Given the description of an element on the screen output the (x, y) to click on. 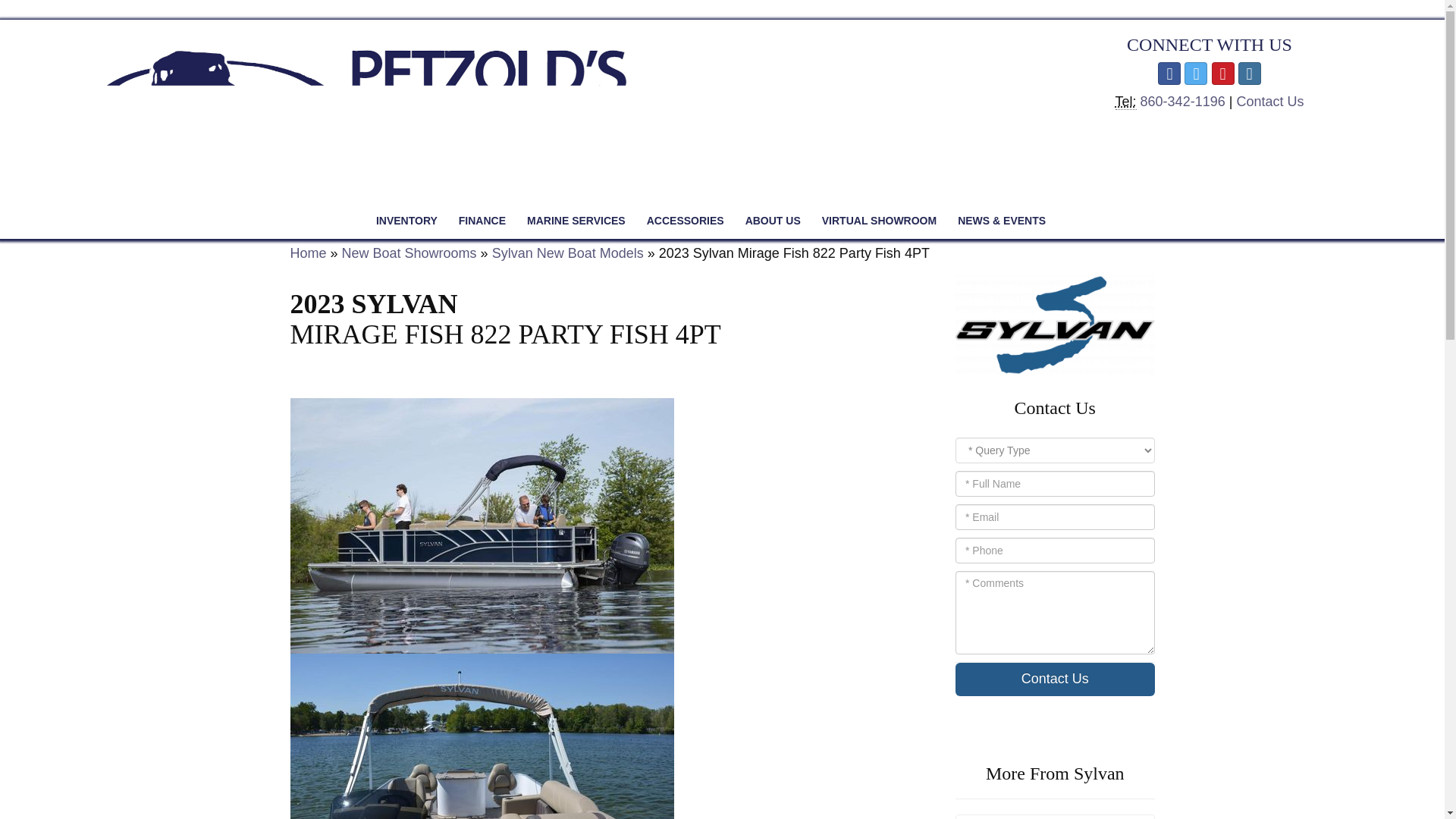
Marine Services (576, 220)
INVENTORY (406, 220)
ACCESSORIES (685, 220)
Home (307, 253)
Social media, facebook link (1168, 73)
860-342-1196 (1184, 101)
New Boat Showrooms (409, 253)
Accessories (685, 220)
Phone (1126, 101)
MARINE SERVICES (576, 220)
Social media, youtube link (1222, 73)
Social media, twitter link (1196, 73)
Virtual Showroom (878, 220)
Inventory (406, 220)
VIRTUAL SHOWROOM (878, 220)
